Given the description of an element on the screen output the (x, y) to click on. 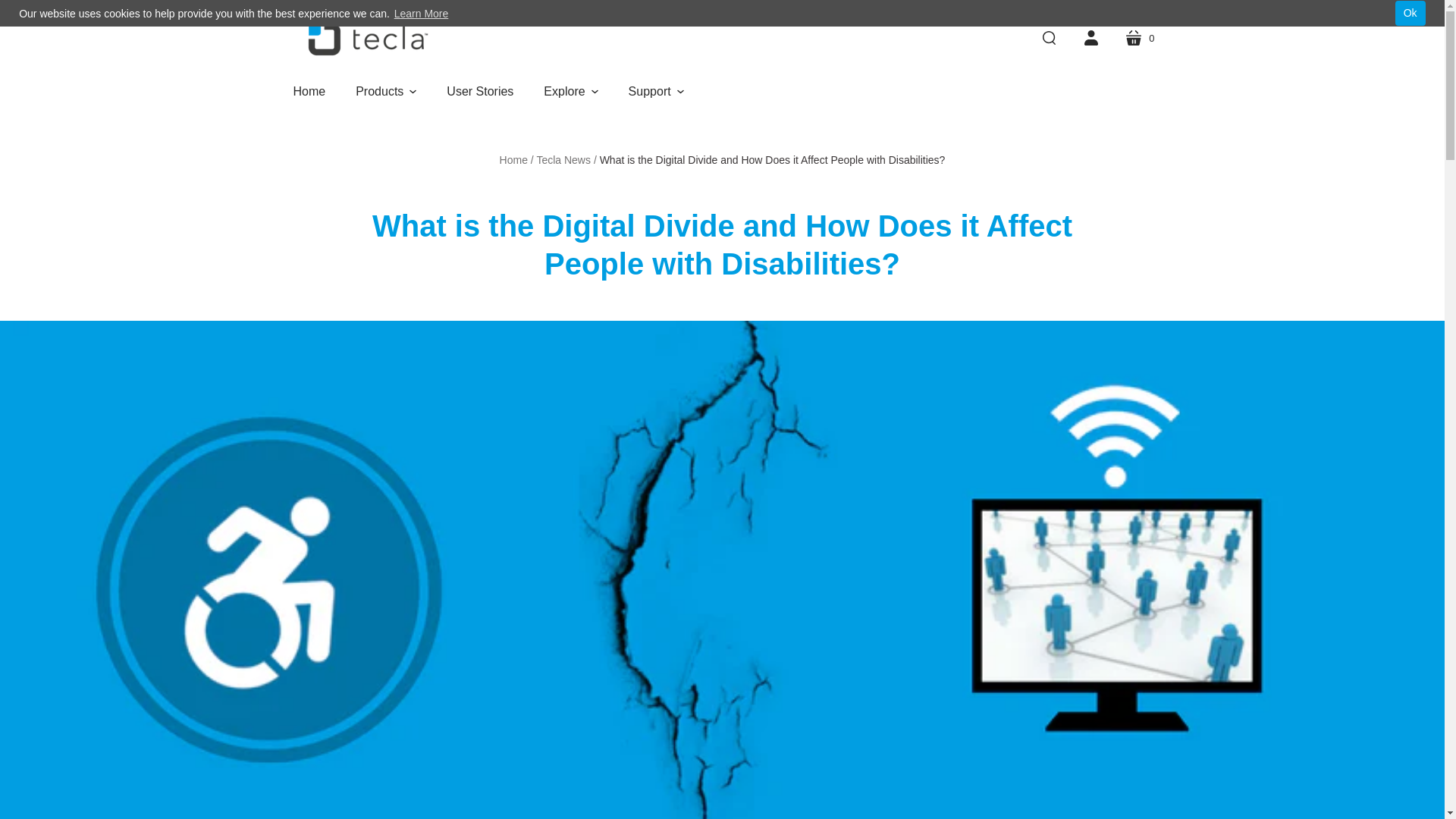
search (1139, 37)
Home (1048, 37)
Deny (309, 91)
User Stories (1091, 37)
